Given the description of an element on the screen output the (x, y) to click on. 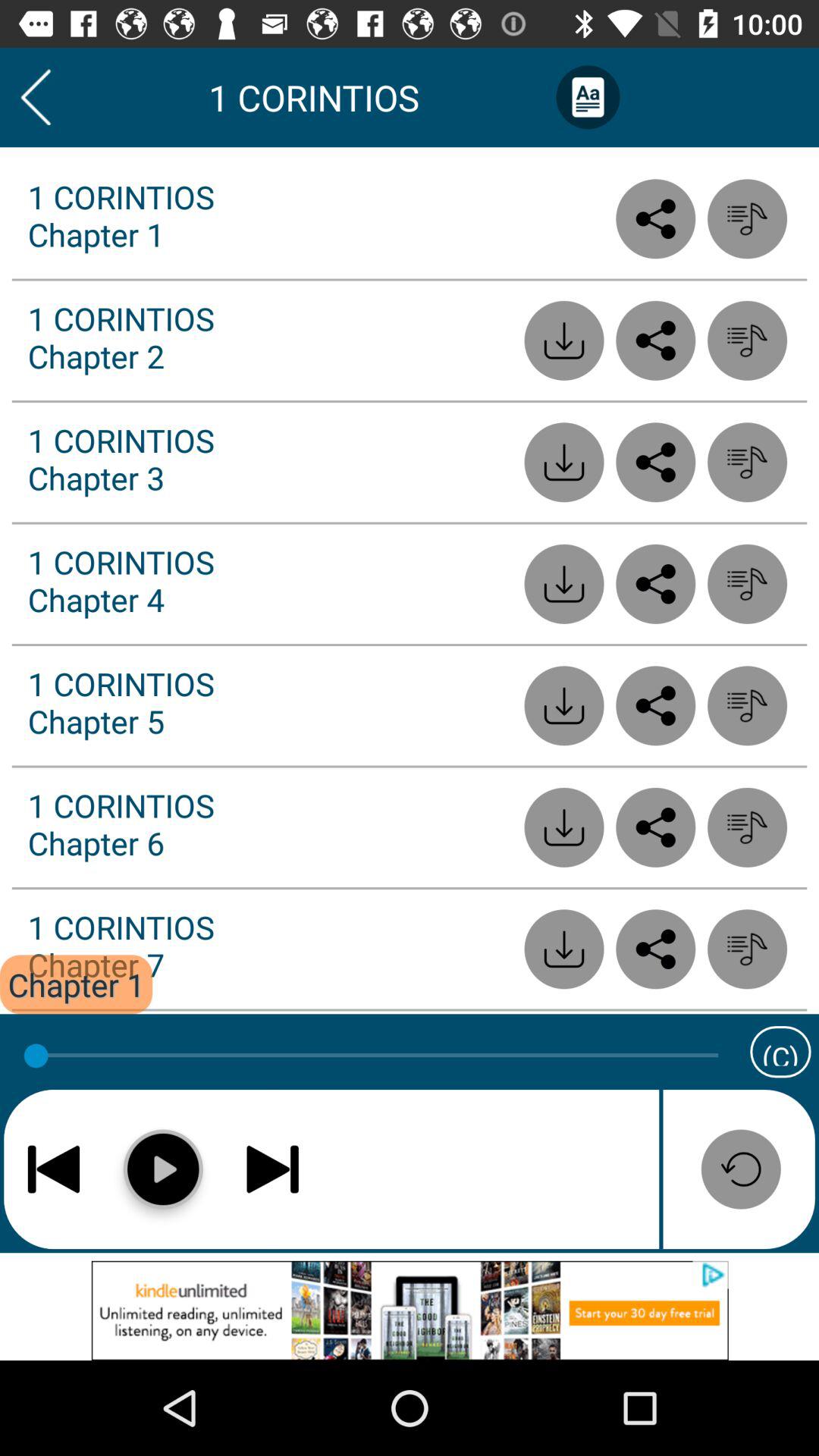
go to next chapter (272, 1168)
